Given the description of an element on the screen output the (x, y) to click on. 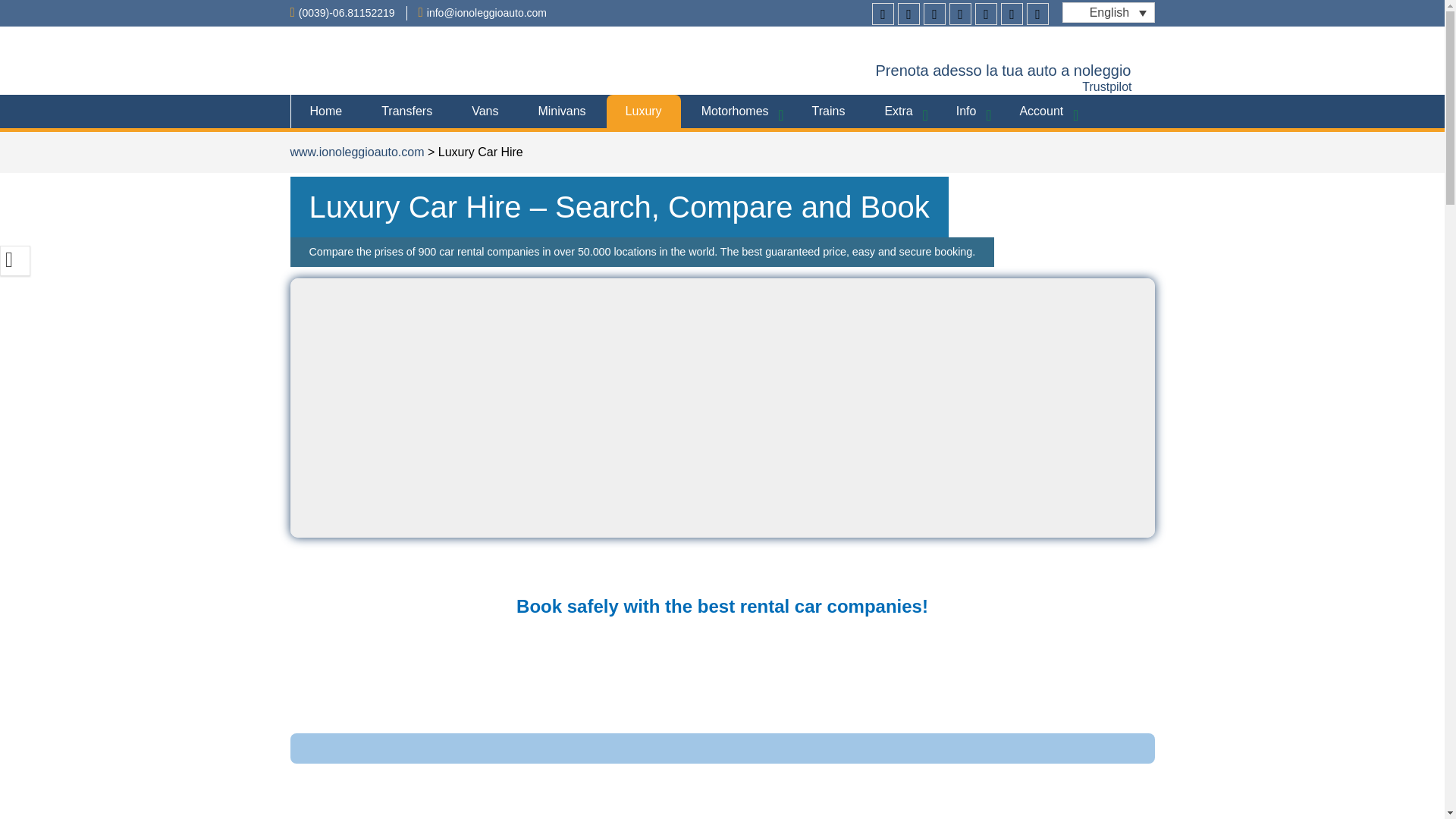
Transfers (406, 111)
Vans (484, 111)
Luxury (644, 111)
Rate translation of this page (15, 260)
English (1108, 12)
Home (325, 111)
Trustpilot (1106, 86)
Extra (899, 111)
Info (967, 111)
Motorhomes (737, 111)
